Given the description of an element on the screen output the (x, y) to click on. 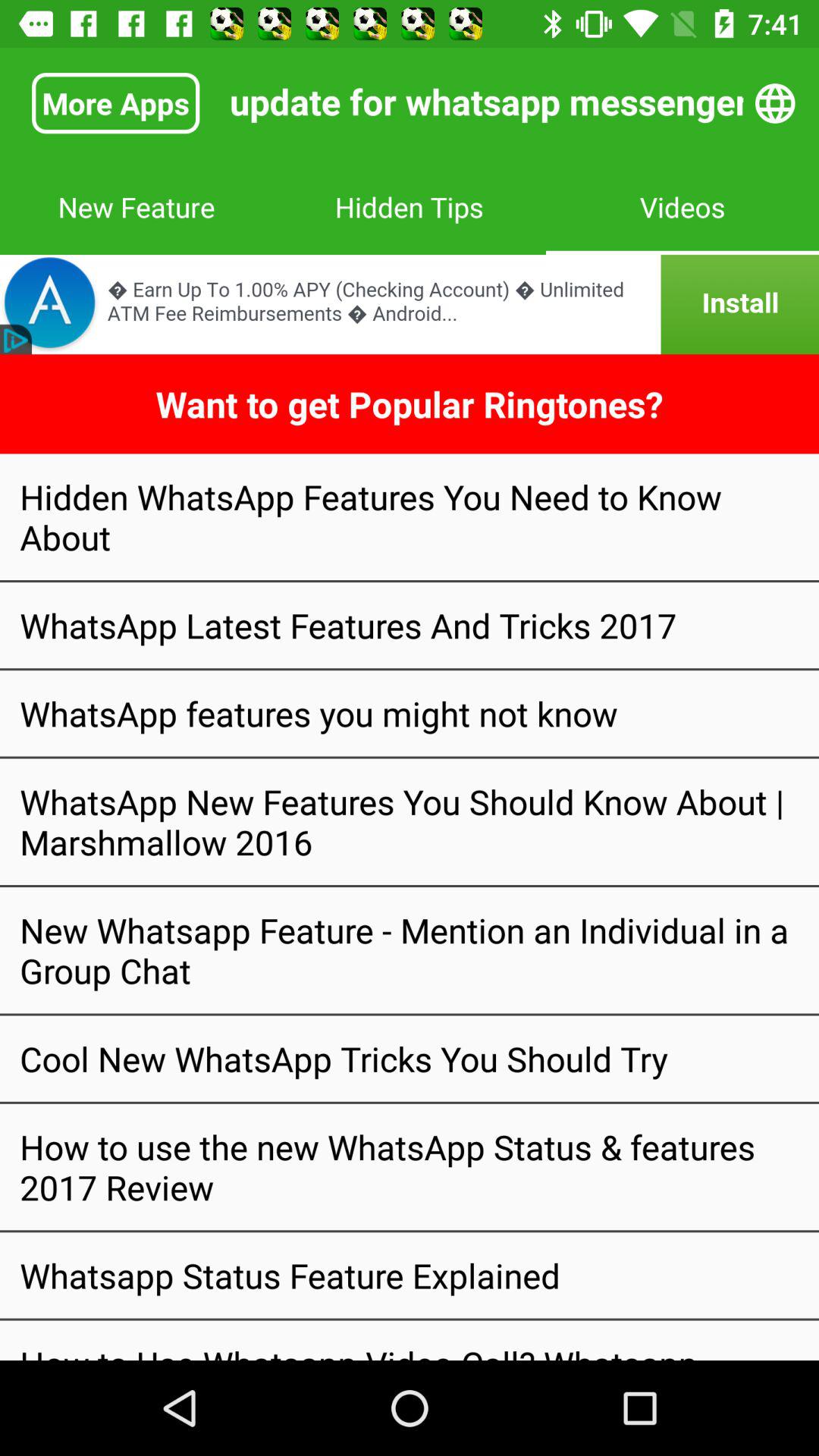
good (409, 304)
